Given the description of an element on the screen output the (x, y) to click on. 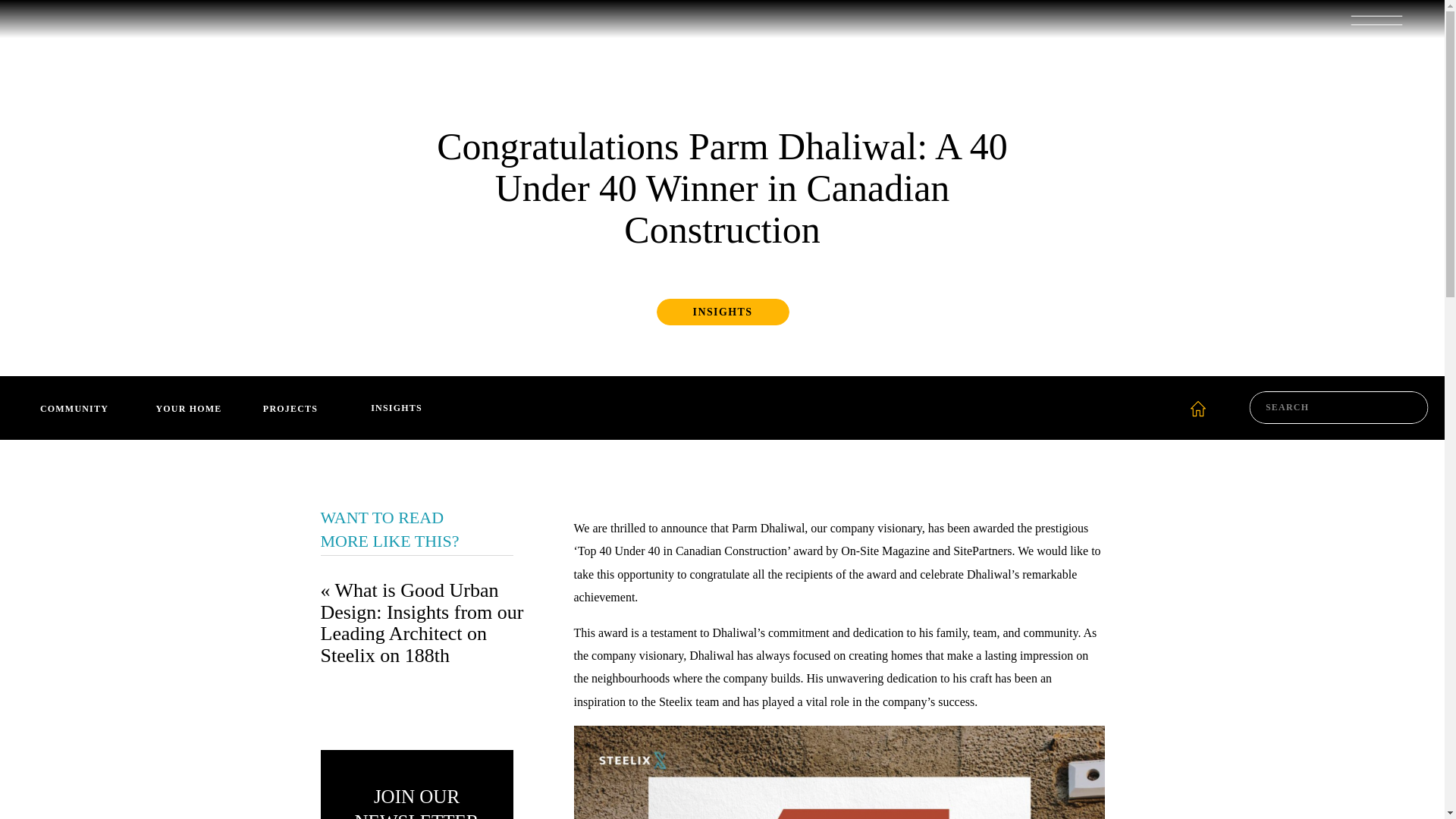
COMMUNITY (74, 408)
INSIGHTS (396, 407)
YOUR HOME (188, 408)
PROJECTS (290, 408)
INSIGHTS (722, 311)
